Given the description of an element on the screen output the (x, y) to click on. 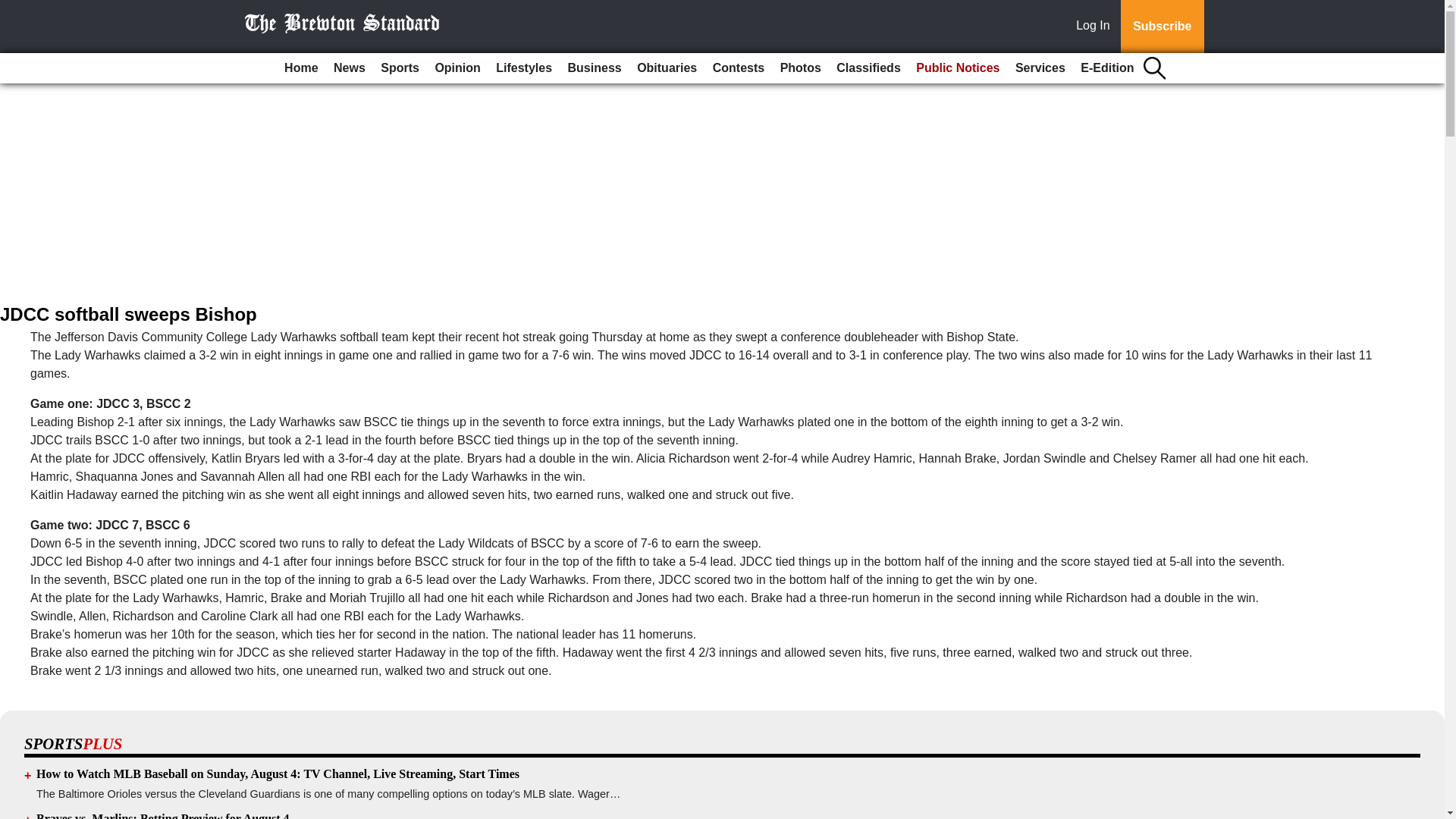
Lifestyles (523, 68)
Go (13, 9)
Services (1040, 68)
Subscribe (1162, 26)
Braves vs. Marlins: Betting Preview for August 4 (162, 815)
Obituaries (666, 68)
Log In (1095, 26)
E-Edition (1107, 68)
Business (594, 68)
Photos (800, 68)
Sports (399, 68)
News (349, 68)
Opinion (457, 68)
Classifieds (867, 68)
